Given the description of an element on the screen output the (x, y) to click on. 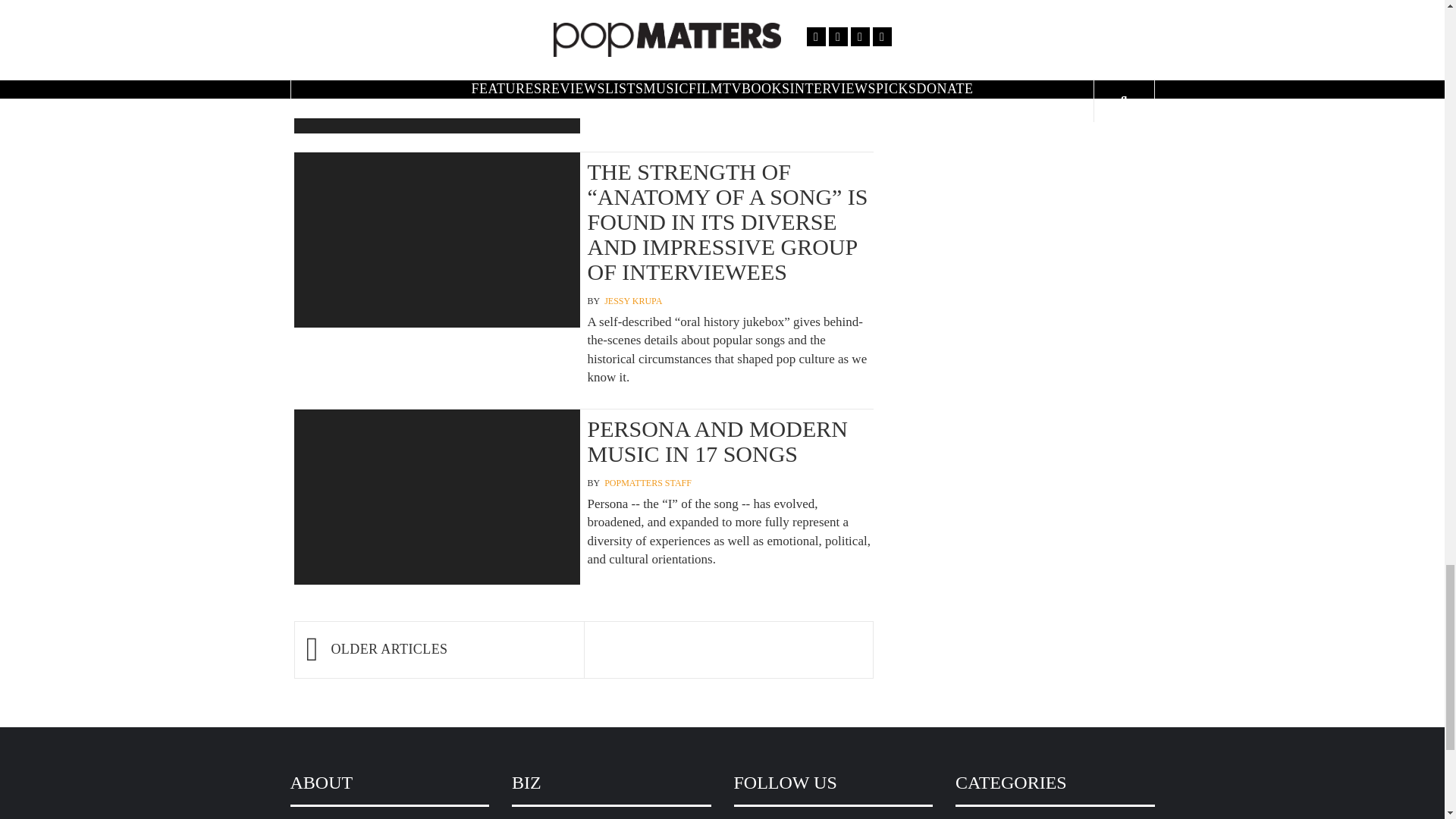
Jessy Krupa (633, 300)
John Paul (628, 31)
PopMatters Staff (647, 482)
